Given the description of an element on the screen output the (x, y) to click on. 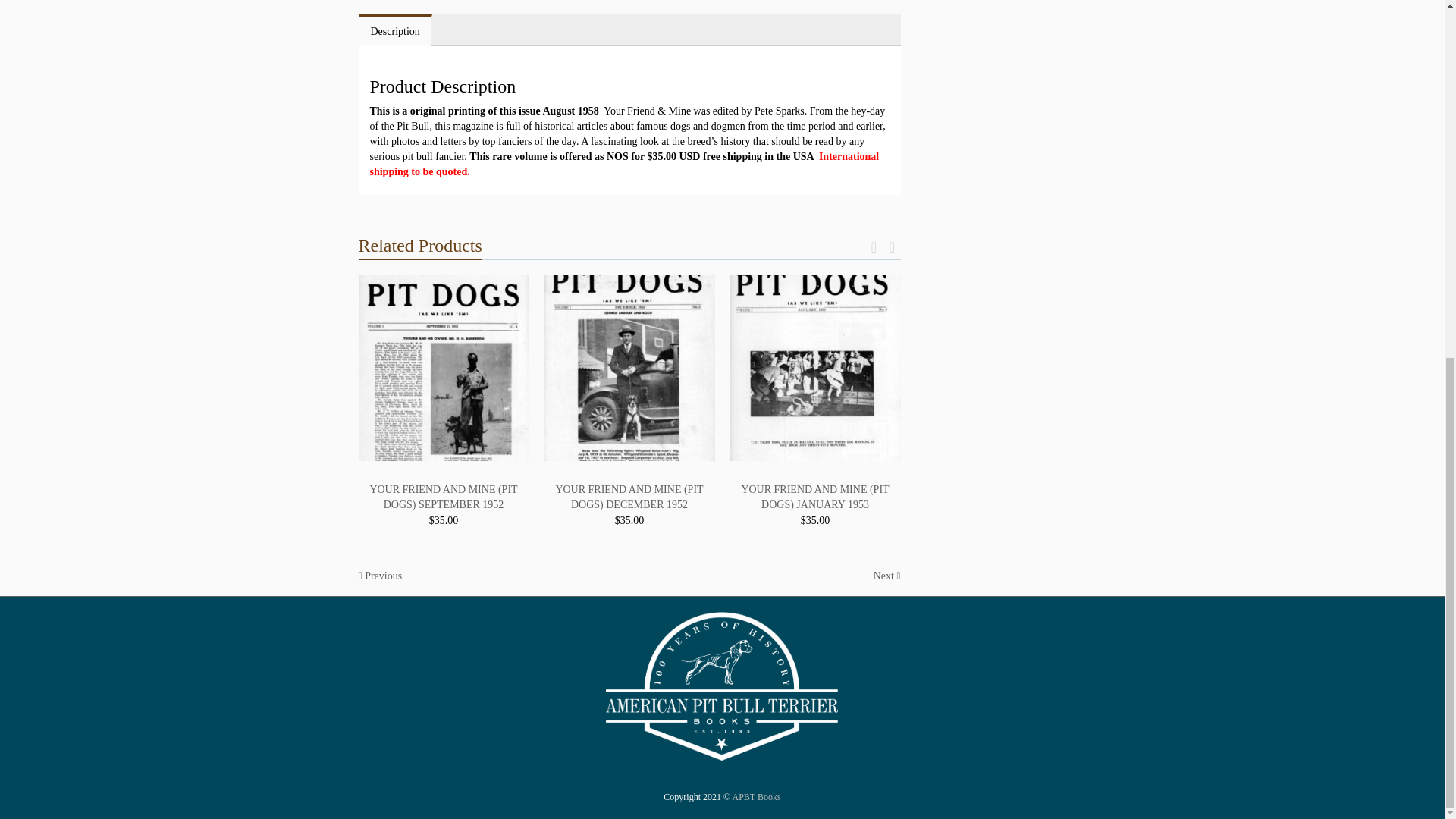
Description (394, 31)
